Given the description of an element on the screen output the (x, y) to click on. 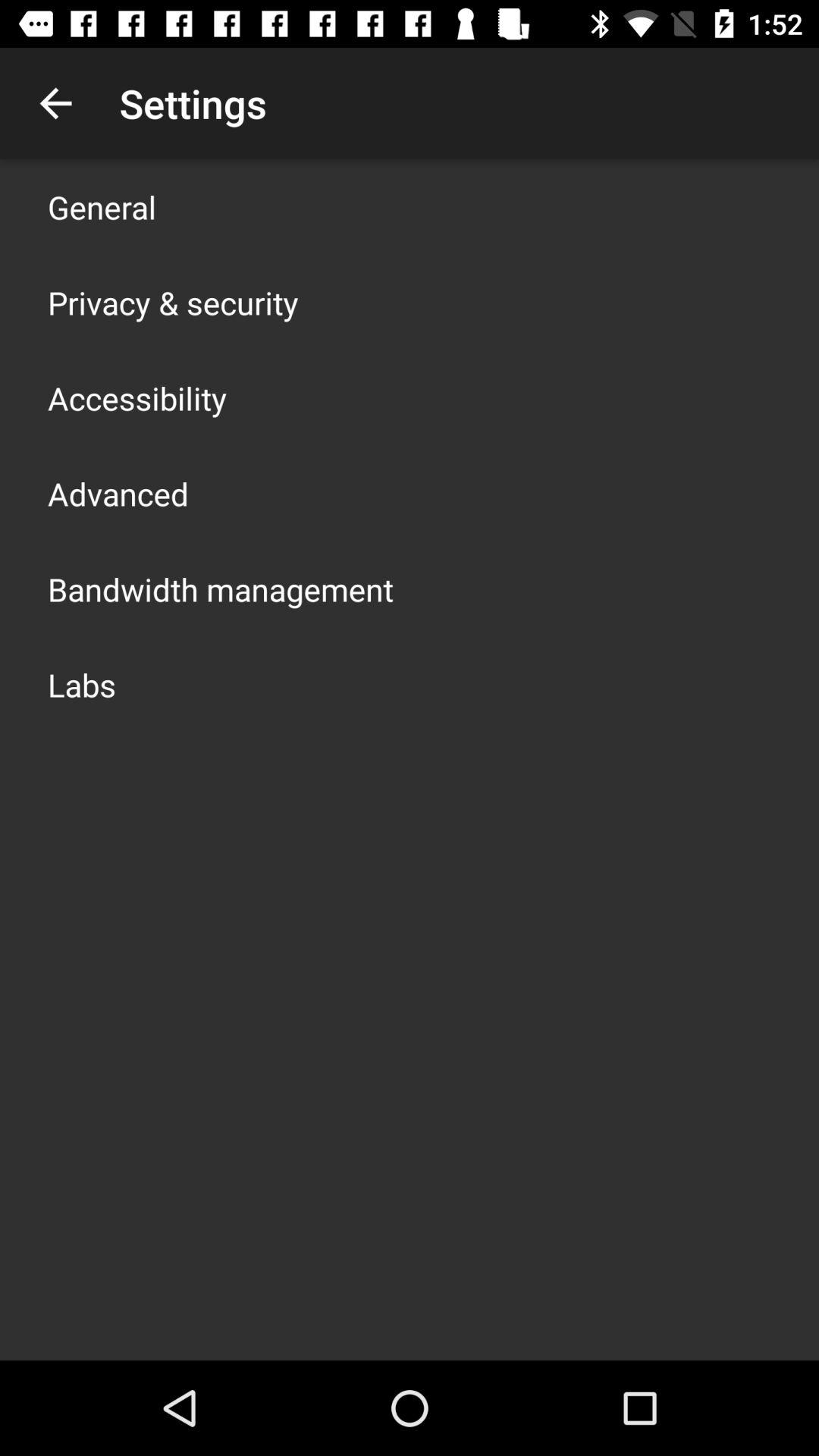
choose the advanced (117, 493)
